Given the description of an element on the screen output the (x, y) to click on. 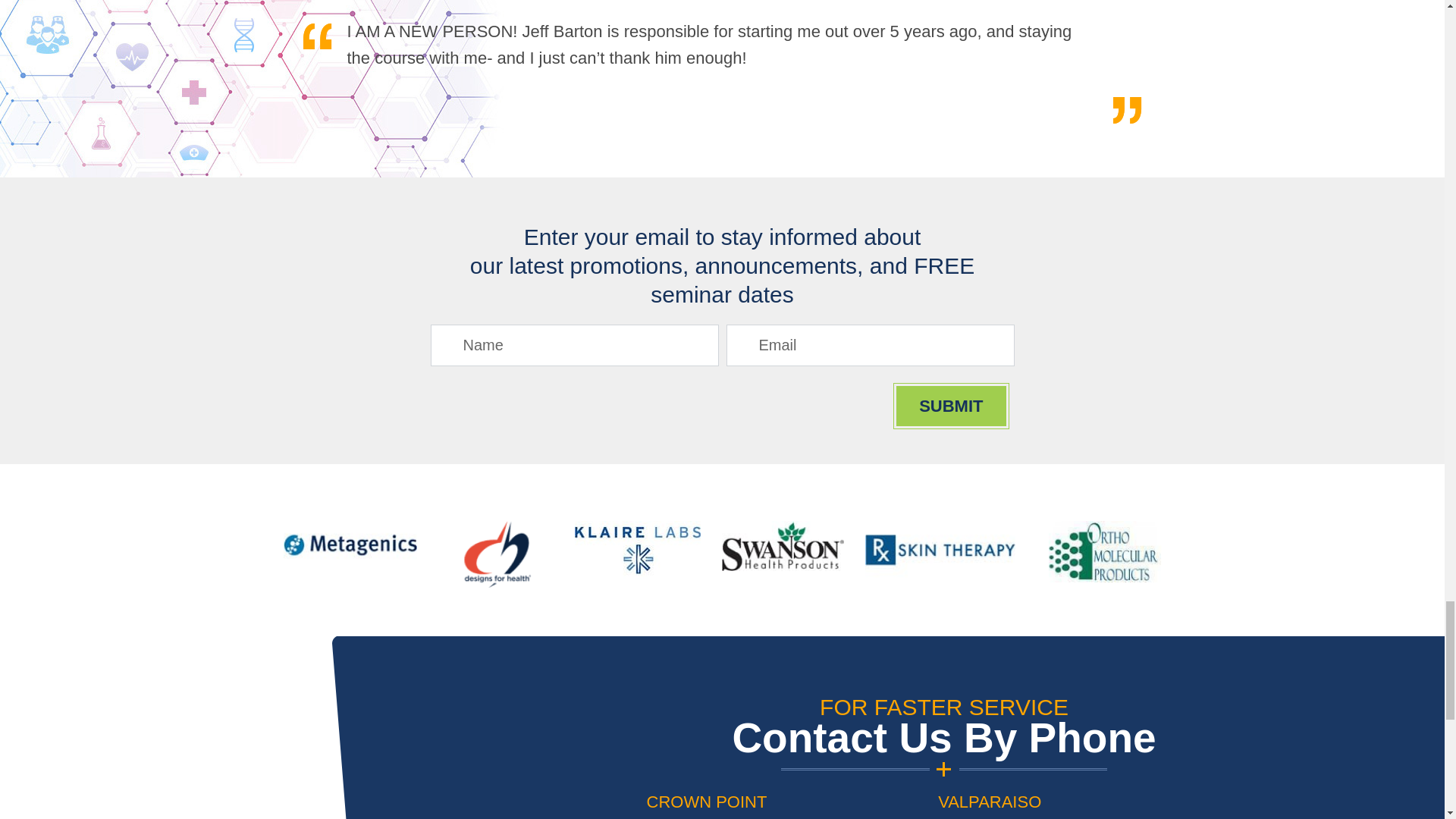
Submit (951, 405)
